Given the description of an element on the screen output the (x, y) to click on. 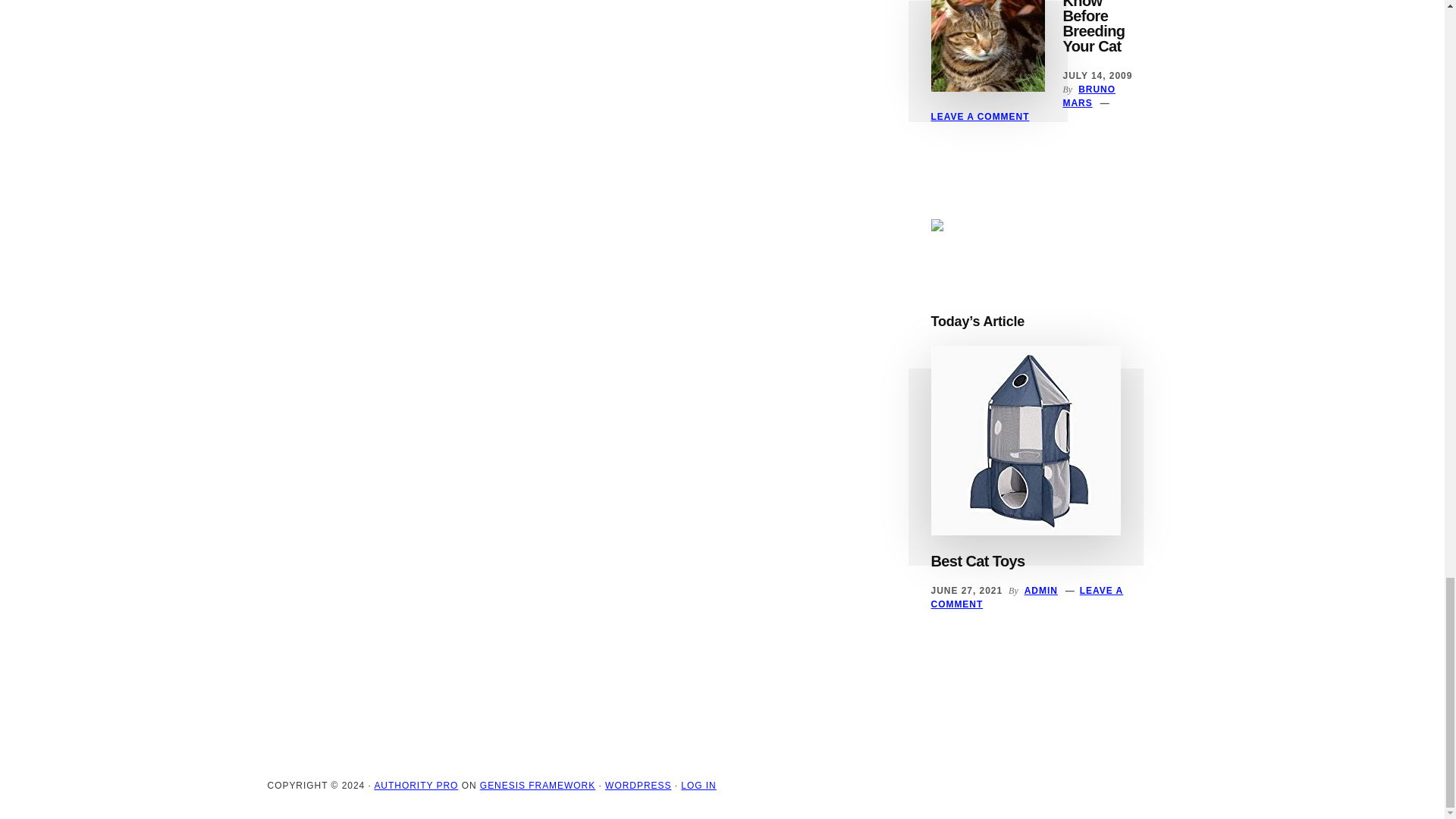
Things To Know Before Breeding Your Cat (1096, 27)
BRUNO MARS (1088, 96)
